Given the description of an element on the screen output the (x, y) to click on. 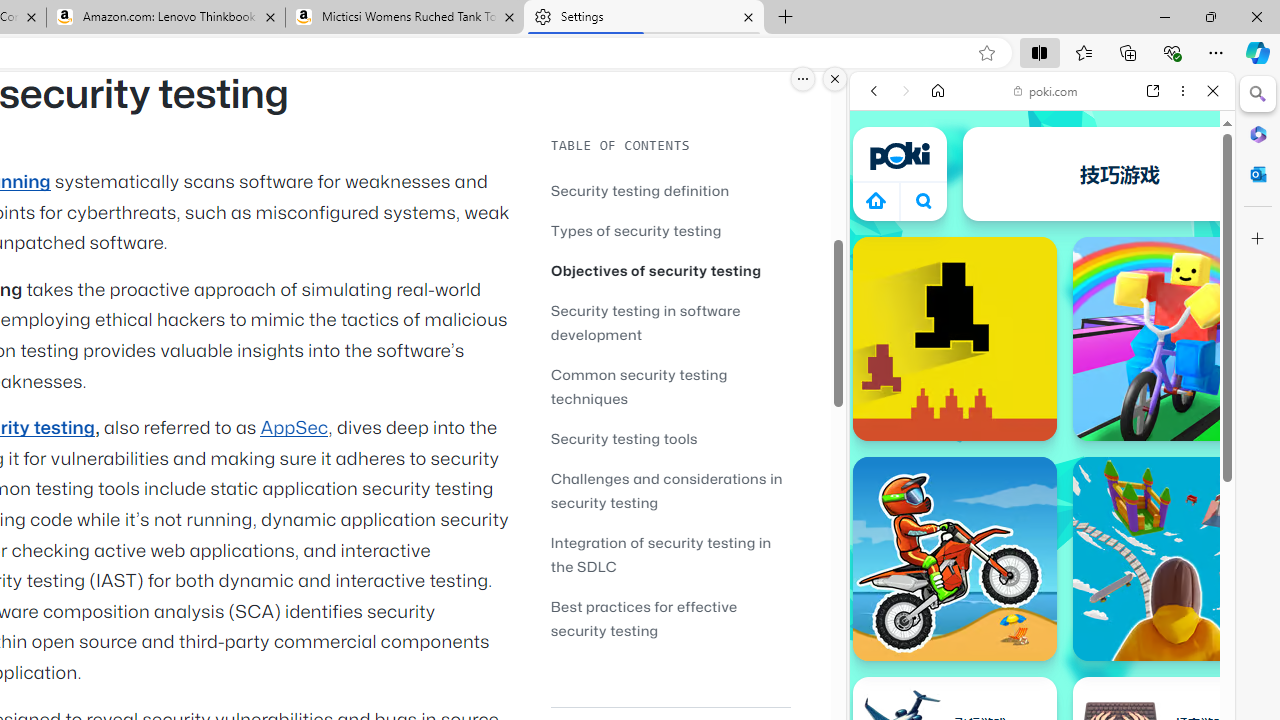
Rainbow Obby (1174, 338)
Types of security testing (635, 230)
Best practices for effective security testing (670, 618)
Security testing in software development (645, 321)
Moto X3M (954, 558)
Two Player Games (1042, 568)
